Given the description of an element on the screen output the (x, y) to click on. 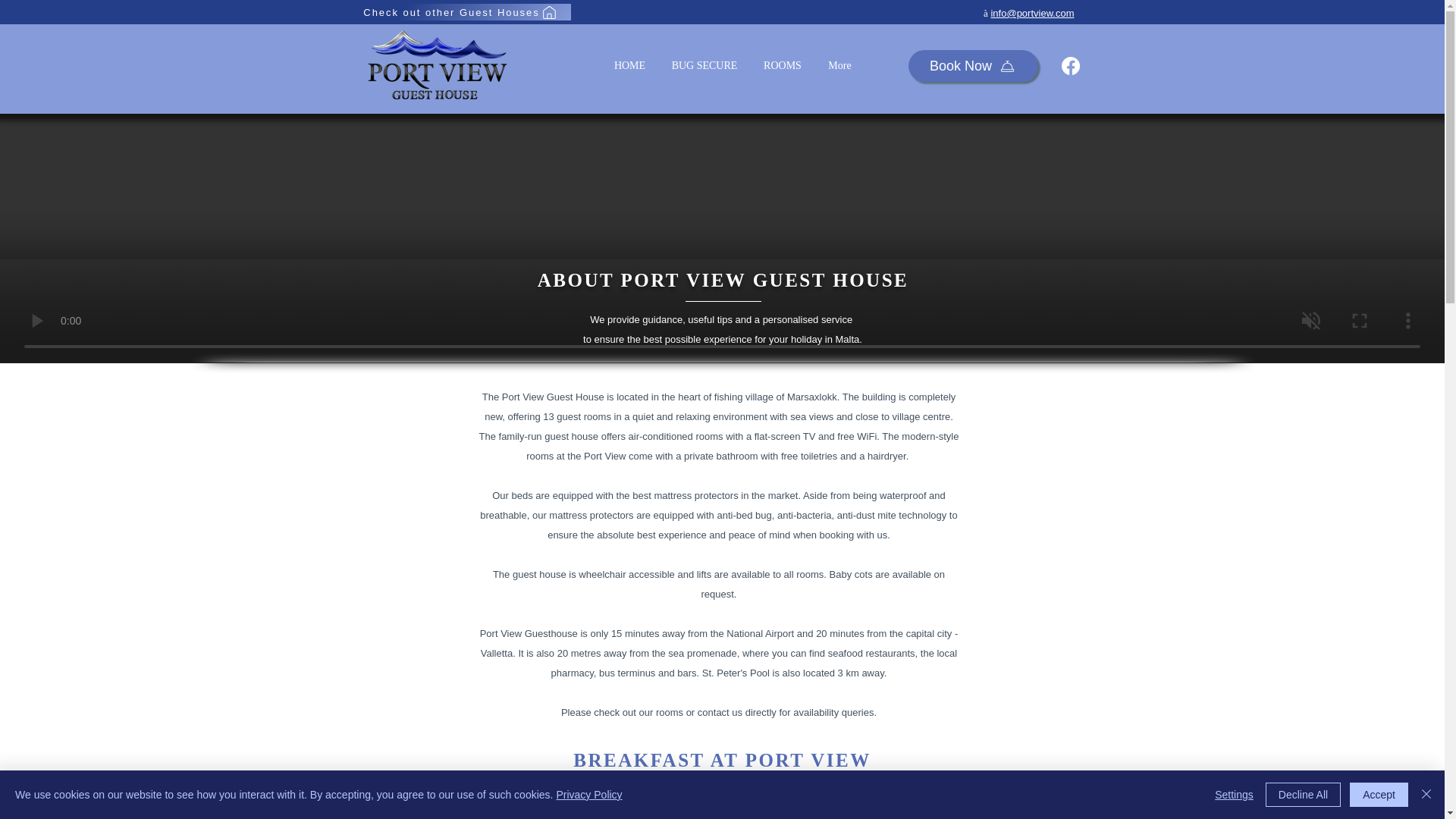
Port View Guest House (437, 65)
Privacy Policy (588, 794)
BUG SECURE (703, 65)
Decline All (1302, 794)
HOME (628, 65)
Check out other Guest Houses (461, 12)
Accept (1378, 794)
ROOMS (783, 65)
Book Now (973, 65)
